Given the description of an element on the screen output the (x, y) to click on. 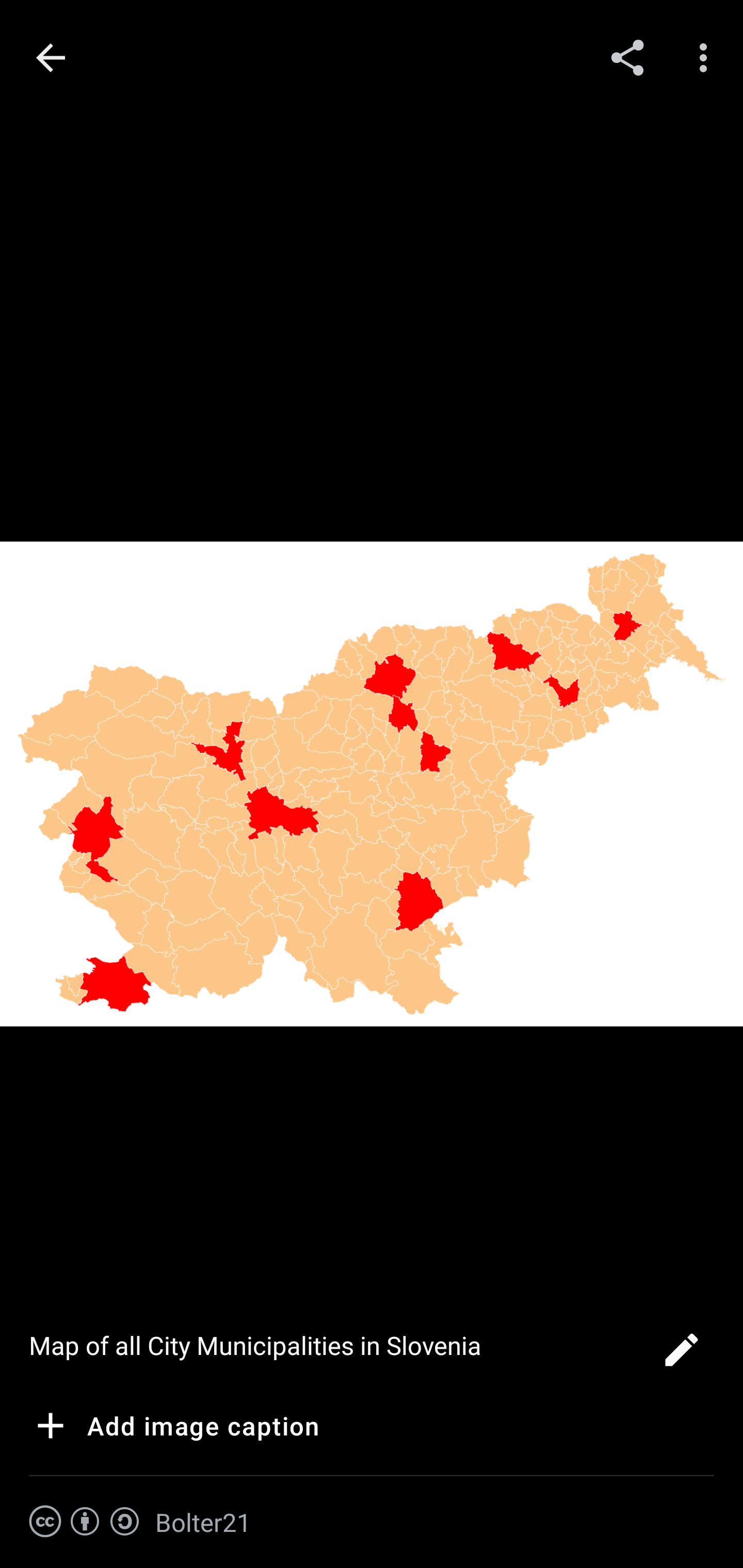
Navigate up (50, 57)
Share (626, 57)
More options (706, 57)
Edit image caption (681, 1355)
Add image caption (174, 1428)
CC BY-SA 4.0 (84, 1521)
